Given the description of an element on the screen output the (x, y) to click on. 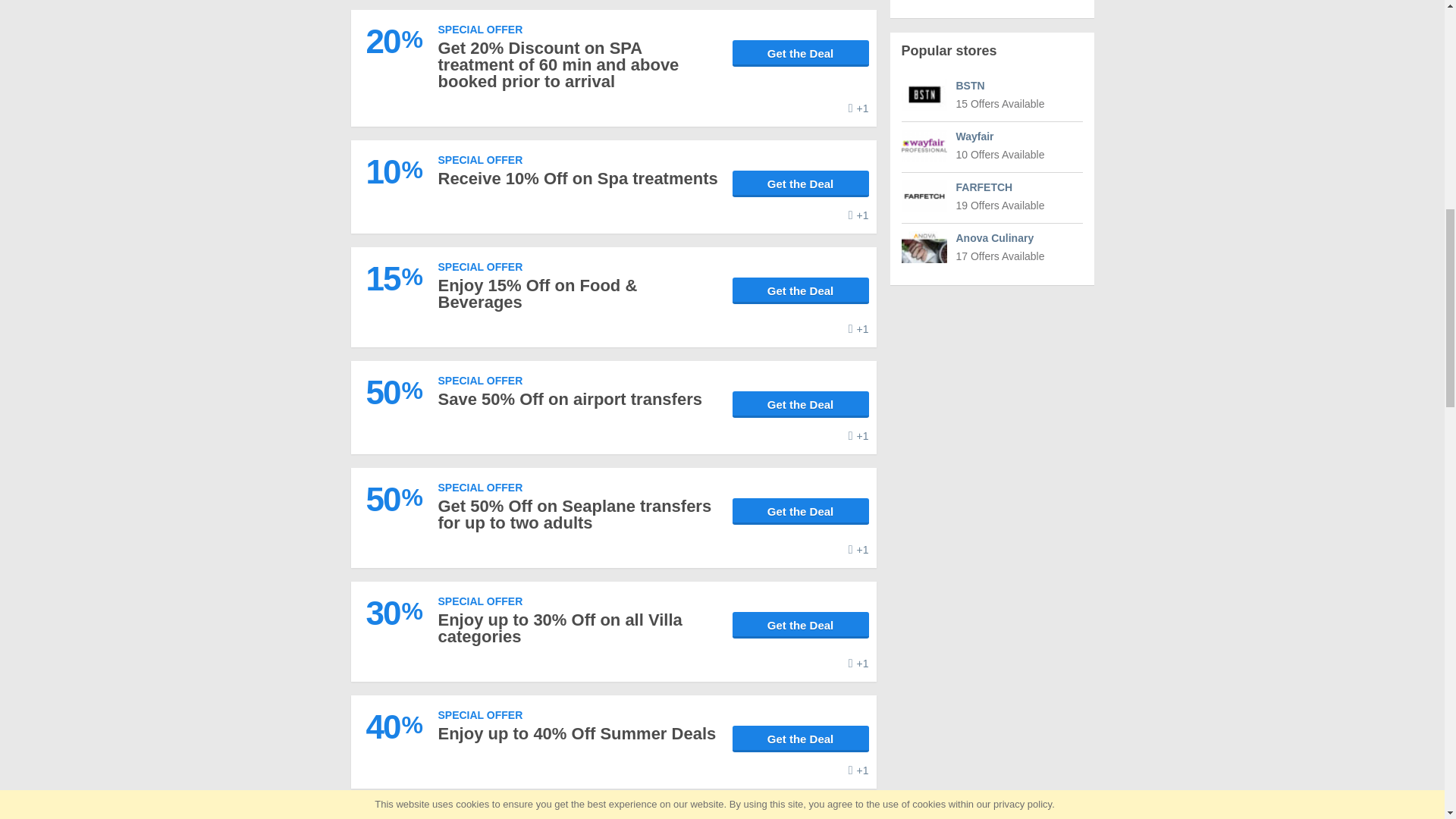
Leave your comment  (858, 436)
Leave your comment  (858, 108)
Leave your comment  (858, 328)
Get the Deal (800, 53)
Get the Deal (800, 290)
Get the Deal (800, 183)
Get the Deal (800, 404)
Leave your comment  (858, 214)
